Given the description of an element on the screen output the (x, y) to click on. 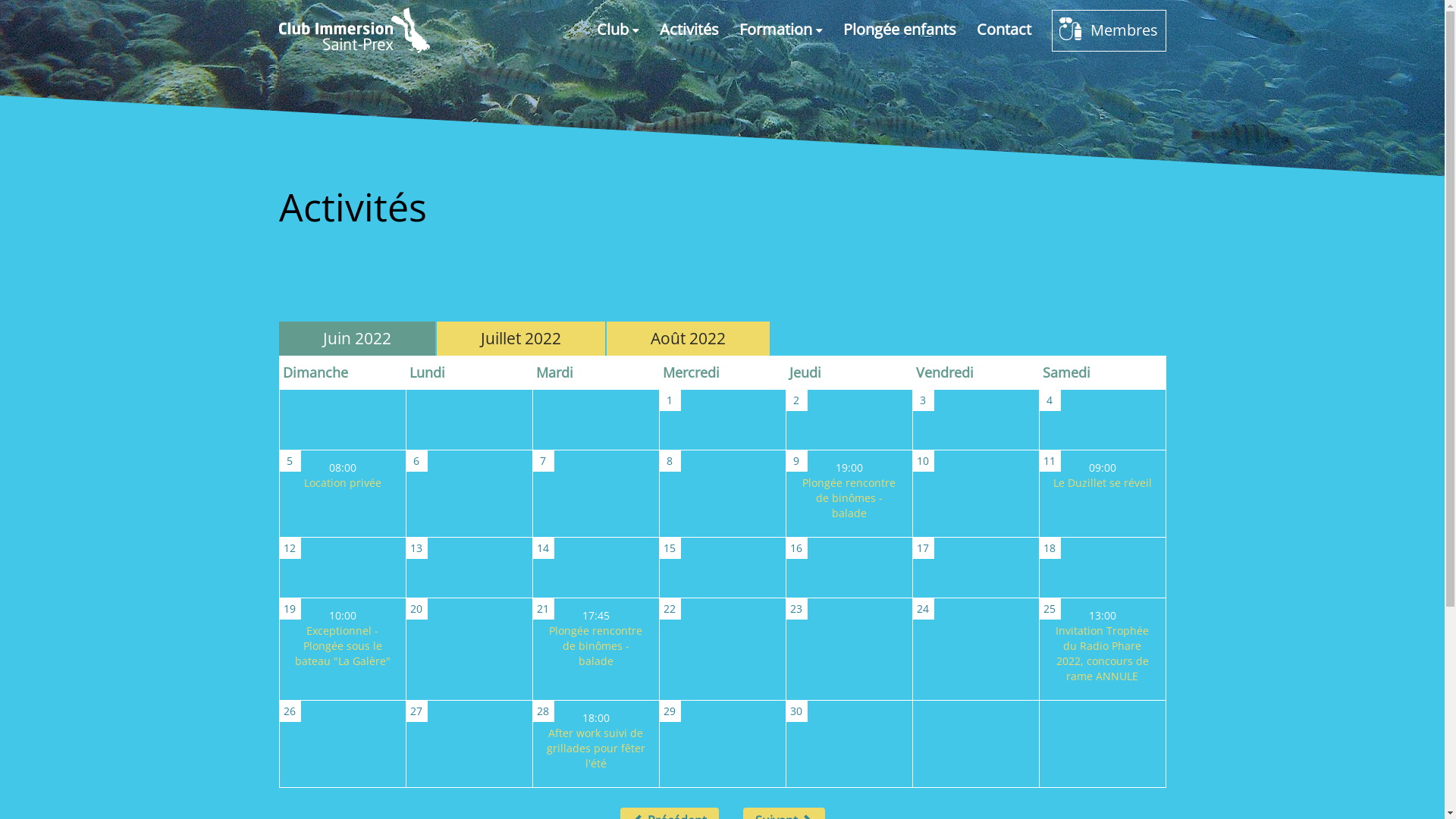
Formation Element type: text (780, 29)
Membres Element type: text (1108, 30)
Contact Element type: text (1003, 29)
Club Element type: text (617, 29)
